Given the description of an element on the screen output the (x, y) to click on. 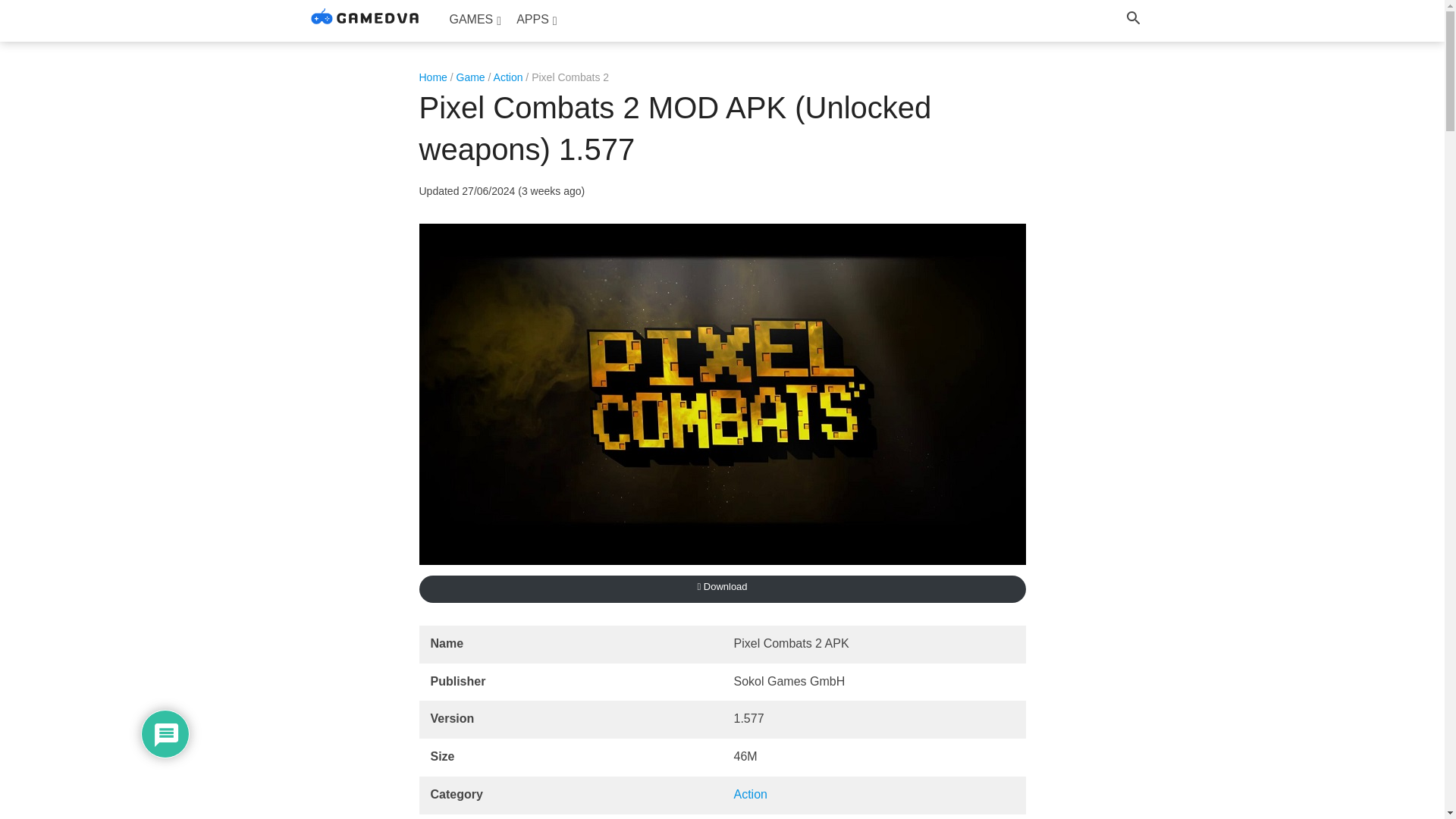
GAMES (474, 20)
APPS (536, 20)
